Given the description of an element on the screen output the (x, y) to click on. 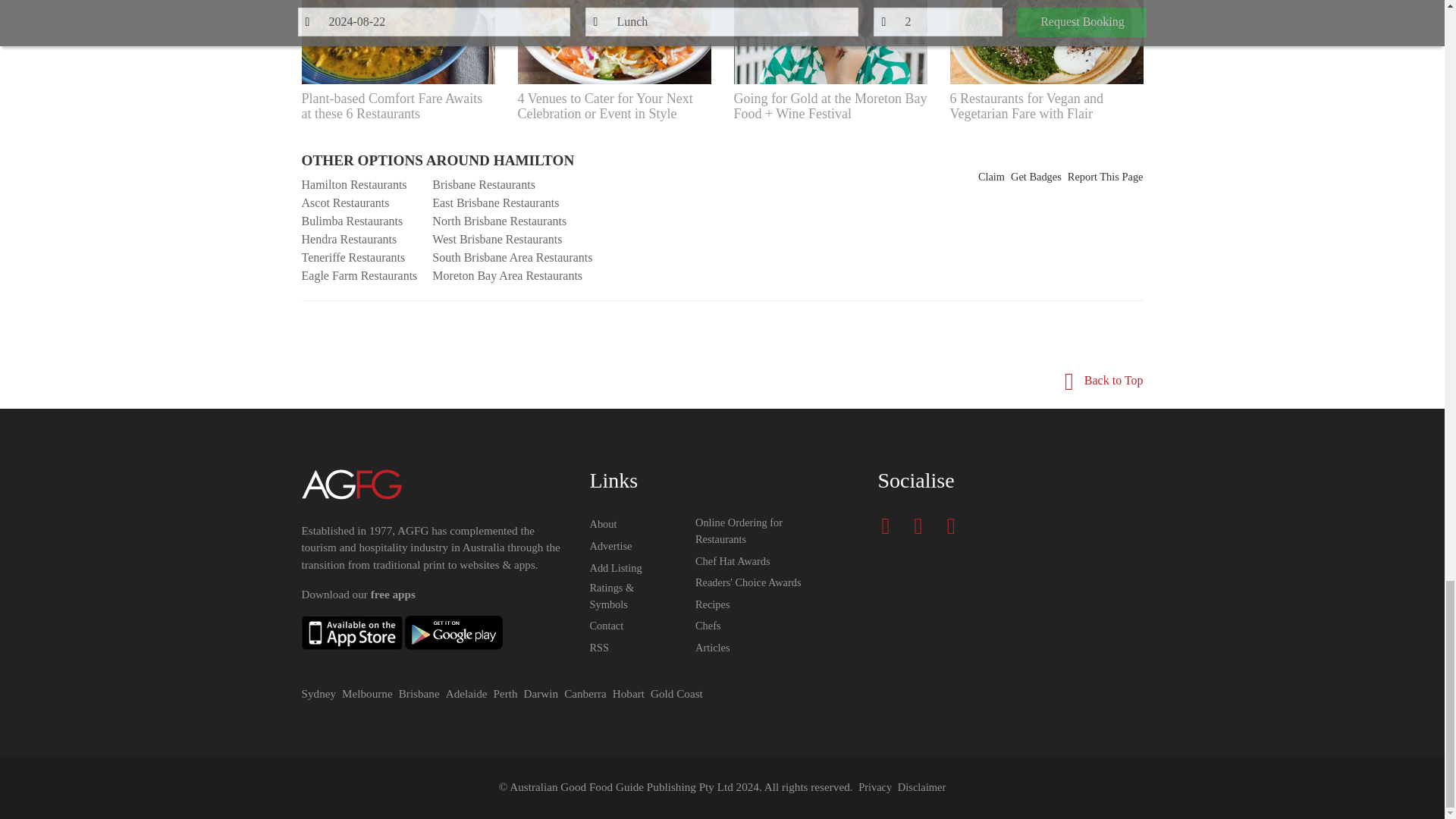
Instagram (922, 526)
Pinterest (954, 526)
Facebook (889, 526)
Report this page (1104, 176)
